Given the description of an element on the screen output the (x, y) to click on. 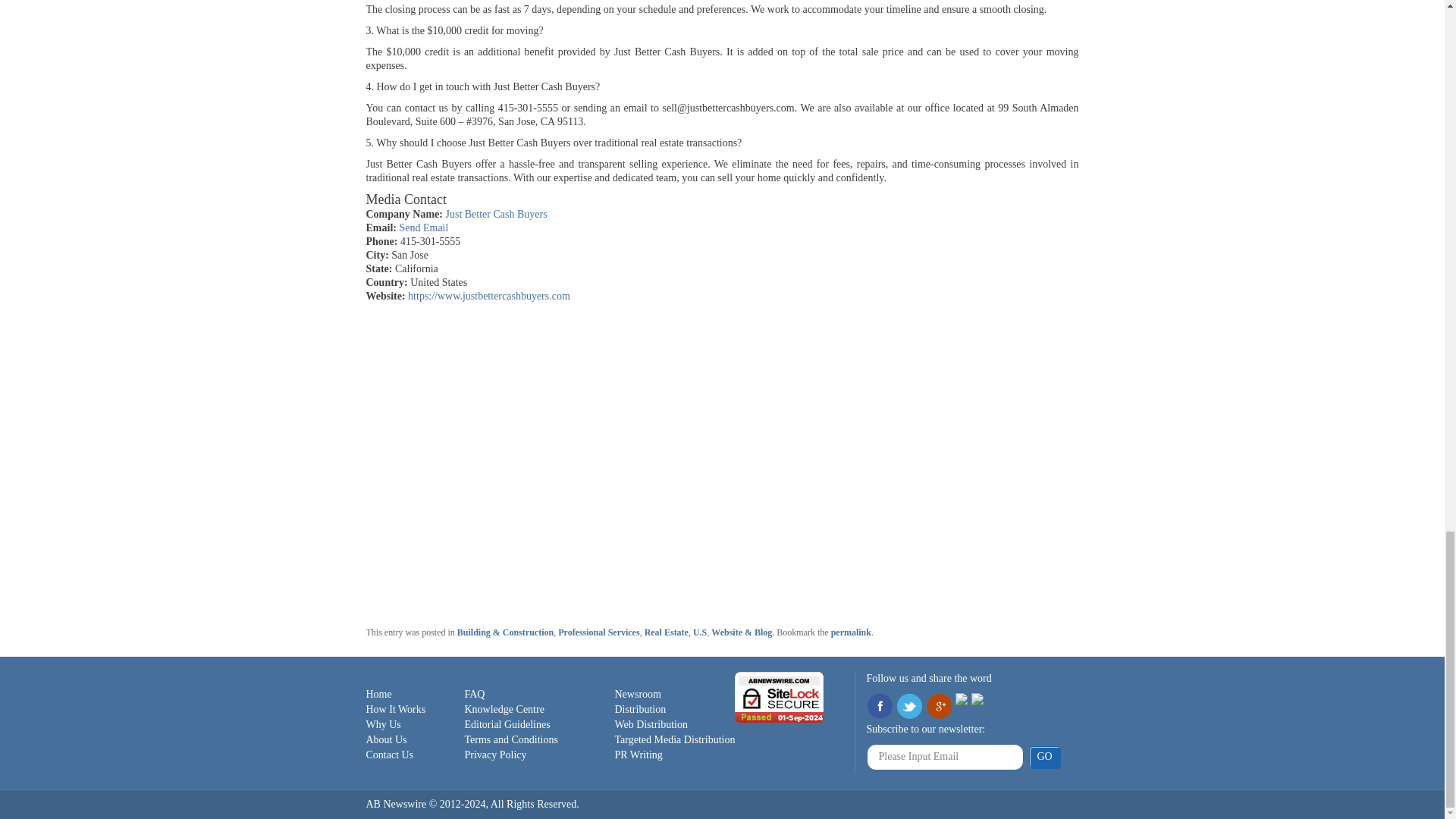
GO (1043, 757)
Please Input Email (944, 756)
SiteLock (779, 696)
